Given the description of an element on the screen output the (x, y) to click on. 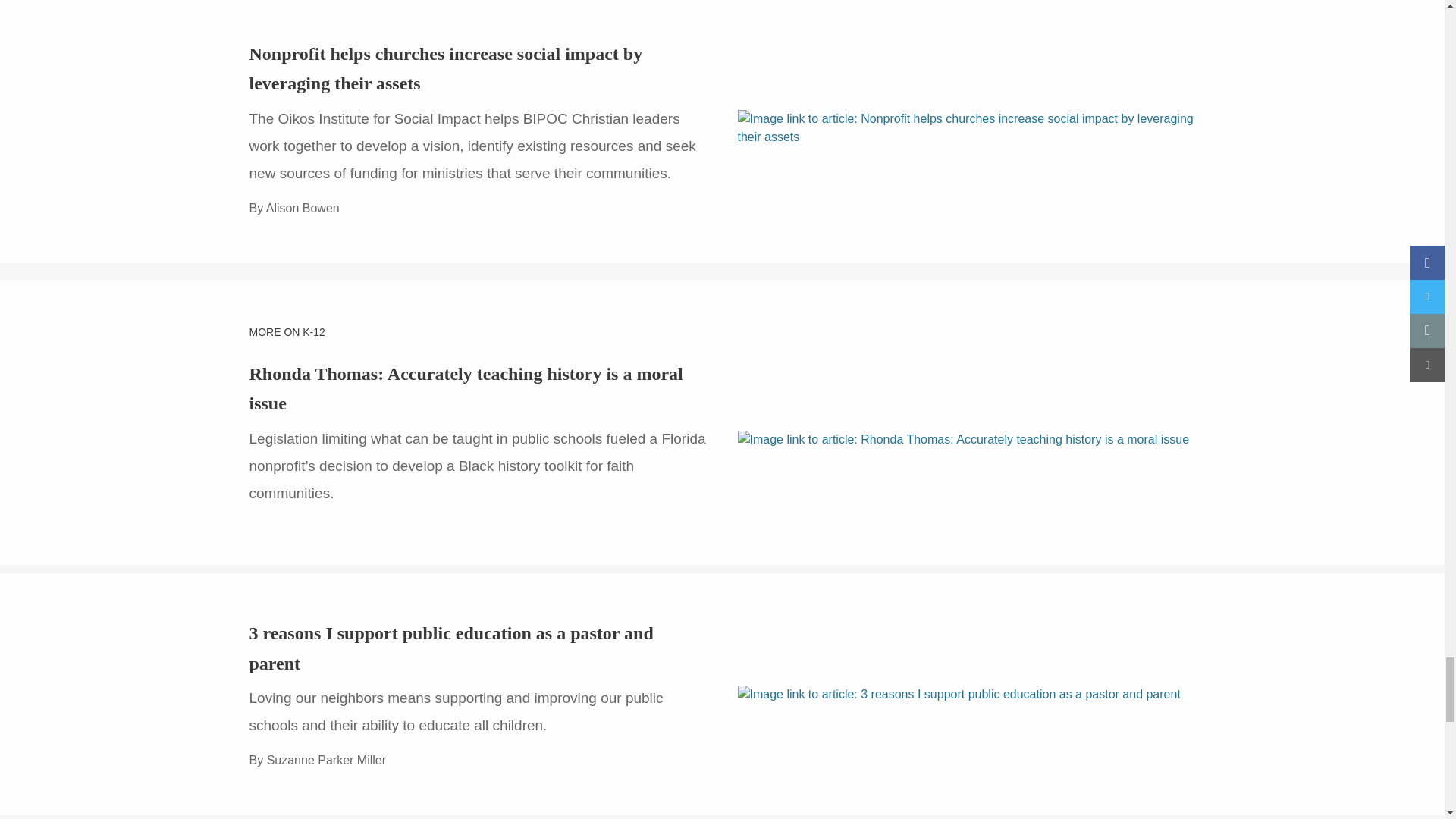
Rhonda Thomas: Accurately teaching history is a moral issue (465, 388)
3 reasons I support public education as a pastor and parent (450, 648)
